Given the description of an element on the screen output the (x, y) to click on. 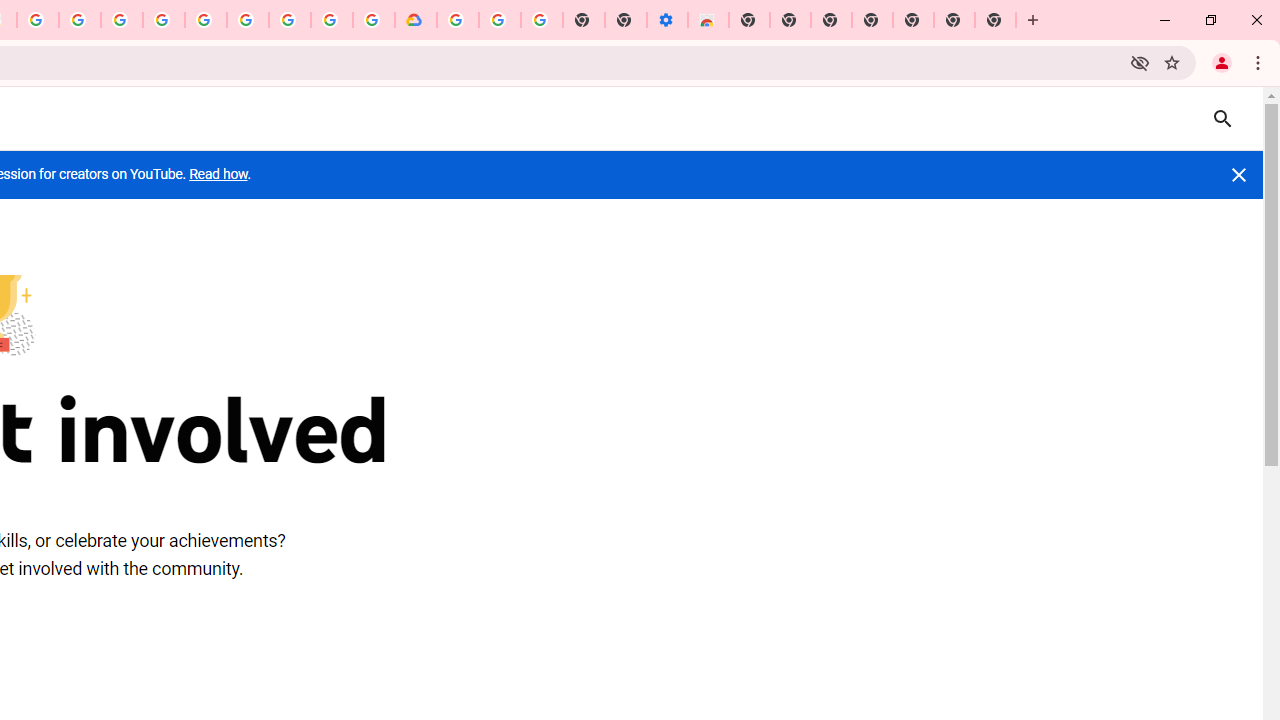
Chrome Web Store - Accessibility extensions (708, 20)
Turn cookies on or off - Computer - Google Account Help (542, 20)
Sign in - Google Accounts (332, 20)
Sign in - Google Accounts (164, 20)
Google Account Help (205, 20)
Settings - Accessibility (667, 20)
New Tab (749, 20)
